Given the description of an element on the screen output the (x, y) to click on. 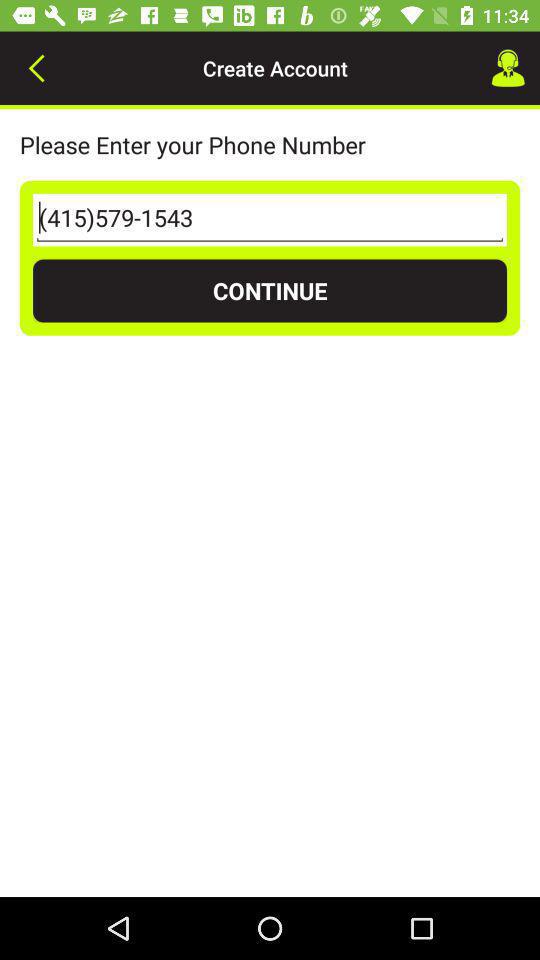
turn off the icon above the continue item (270, 219)
